Given the description of an element on the screen output the (x, y) to click on. 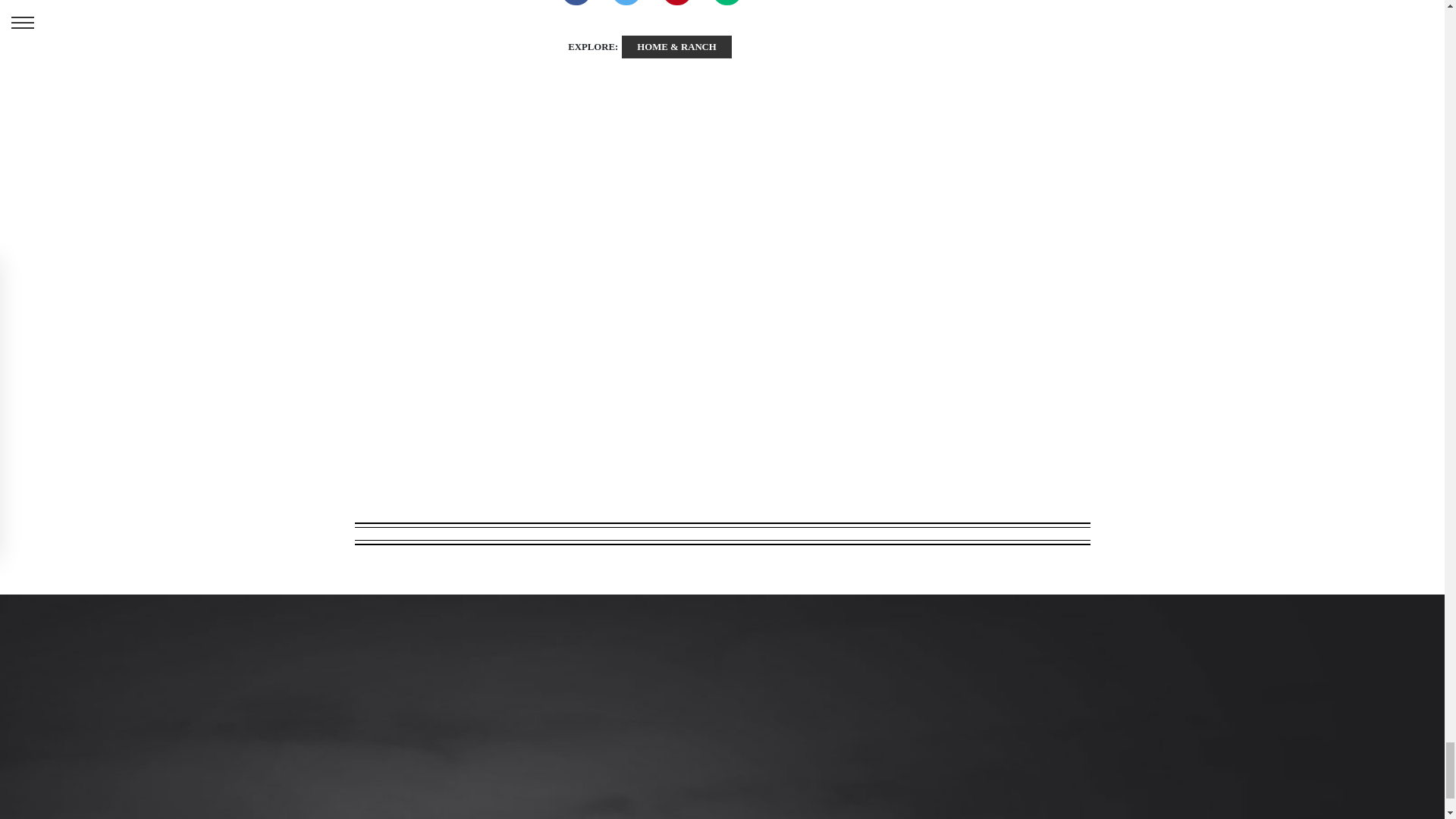
Share by Email (726, 4)
Share on Facebook (576, 4)
Tweet This Post (626, 4)
